Given the description of an element on the screen output the (x, y) to click on. 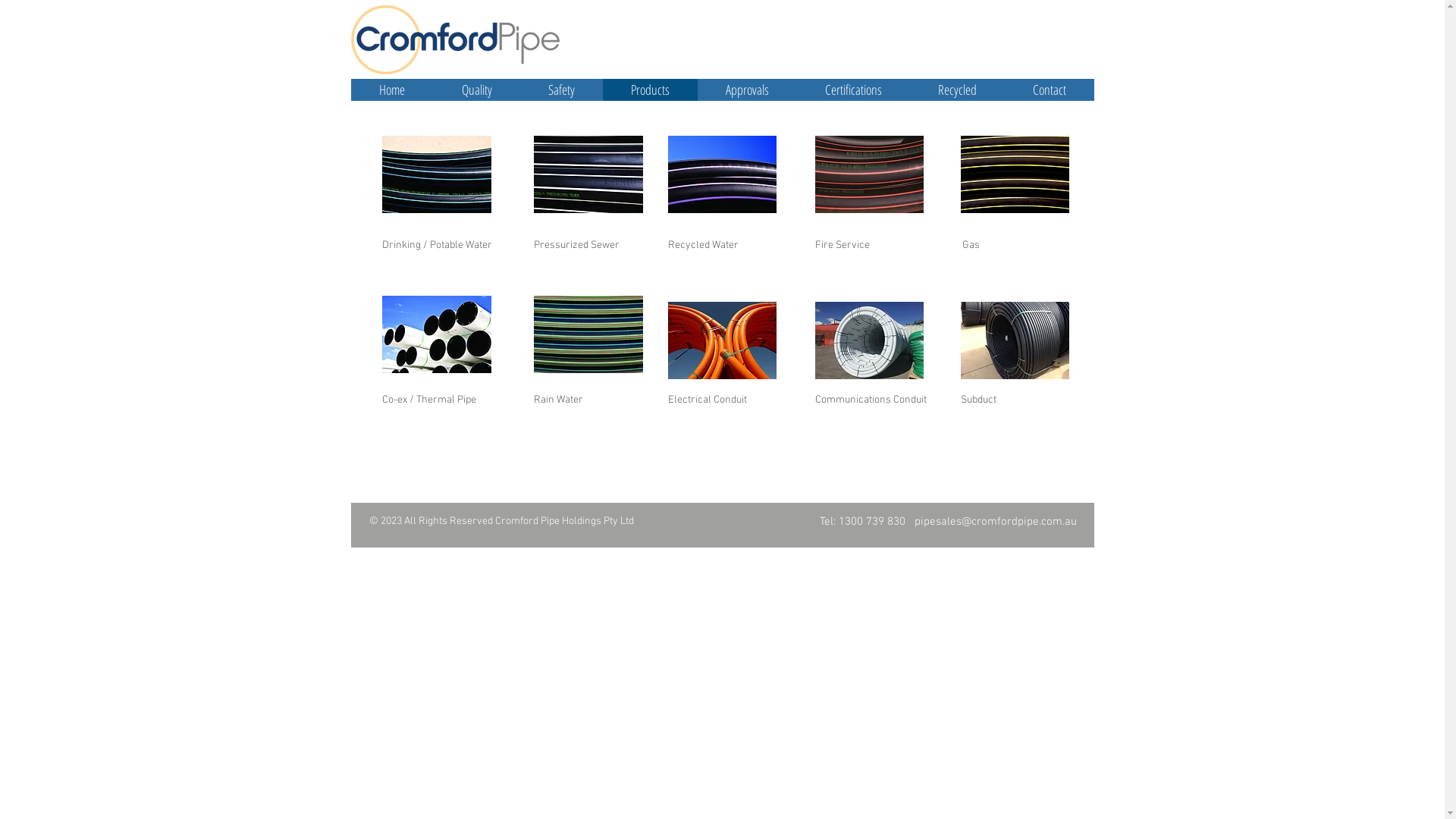
Contact Element type: text (1048, 89)
7920.jpg Element type: hover (436, 174)
Quality Element type: text (476, 89)
pipesales@cromfordpipe.com.au Element type: text (995, 521)
7956.jpg Element type: hover (1014, 174)
Sub Duct Polyethylene Conduits.jpg Element type: hover (1014, 340)
Comms.jpg Element type: hover (868, 340)
Home Element type: text (391, 89)
Products Element type: text (649, 89)
Recycled Element type: text (957, 89)
Approvals Element type: text (747, 89)
7972.jpg Element type: hover (588, 334)
8002.jpg Element type: hover (436, 334)
7992.jpg Element type: hover (588, 174)
Safety Element type: text (561, 89)
7893.jpg Element type: hover (721, 174)
7964.jpg Element type: hover (868, 174)
Certifications Element type: text (852, 89)
CRMD-MV 033.jpg Element type: hover (721, 340)
